Given the description of an element on the screen output the (x, y) to click on. 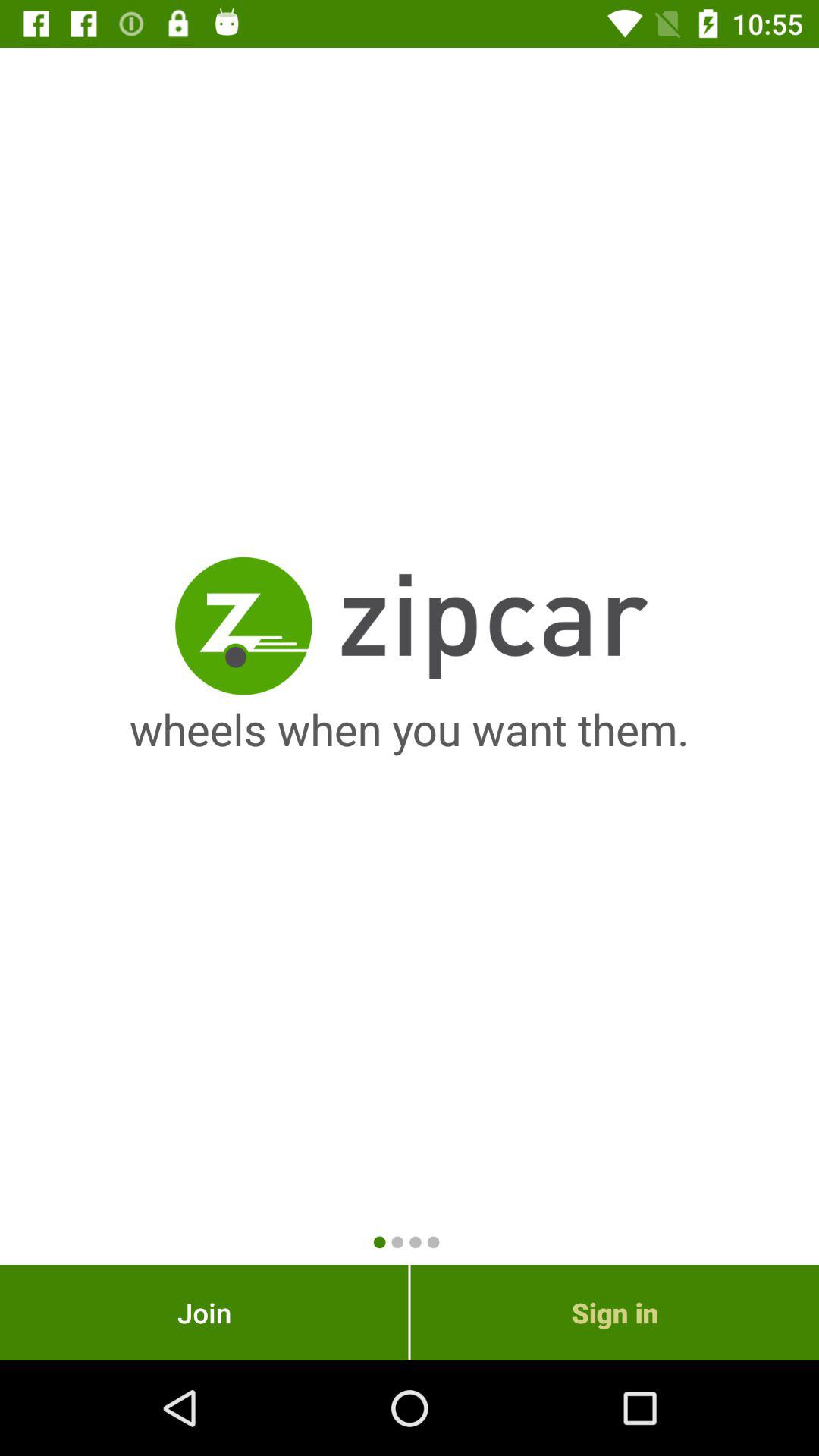
launch sign in at the bottom right corner (614, 1312)
